Given the description of an element on the screen output the (x, y) to click on. 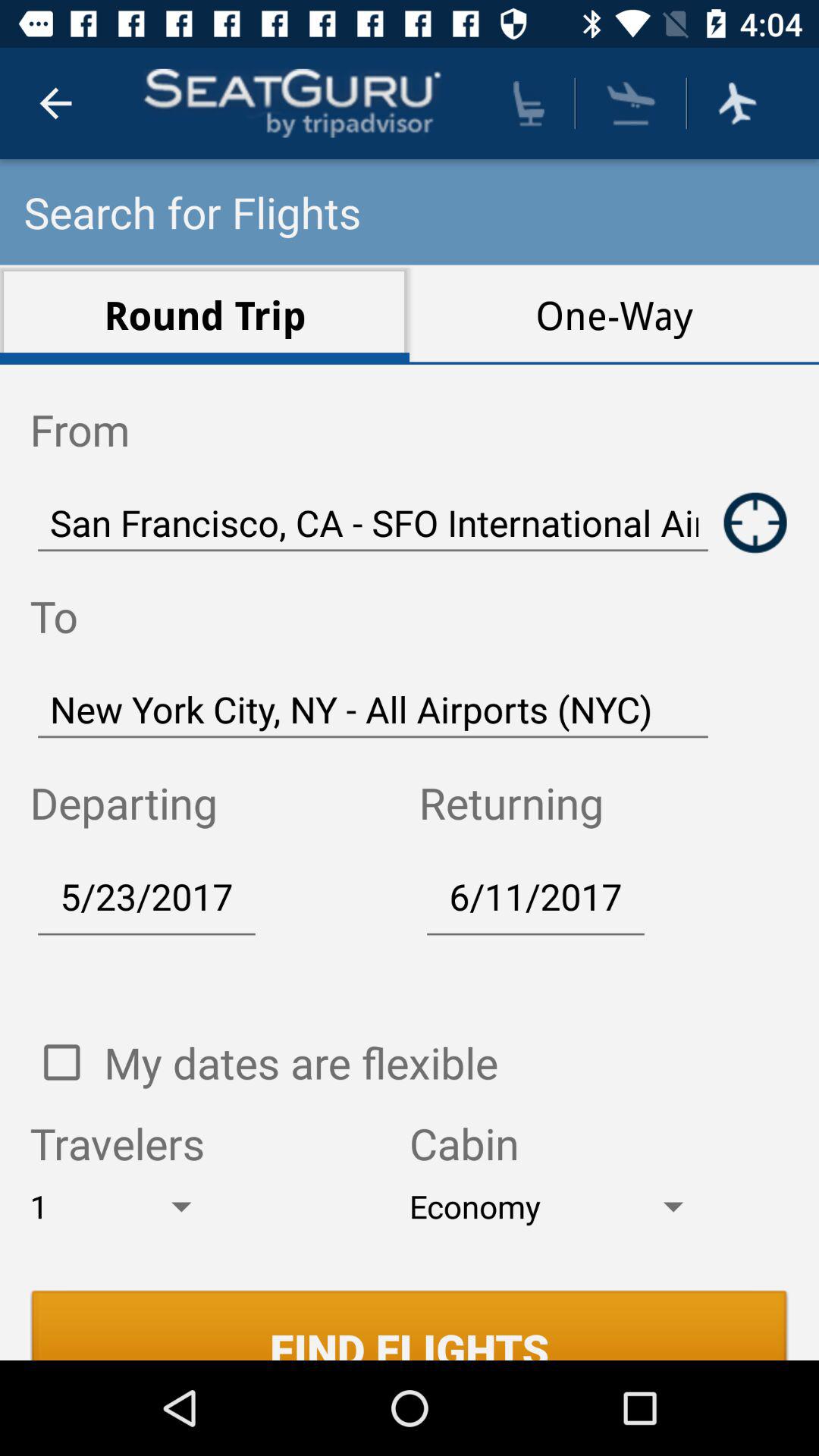
swipe until the one-way (614, 314)
